Given the description of an element on the screen output the (x, y) to click on. 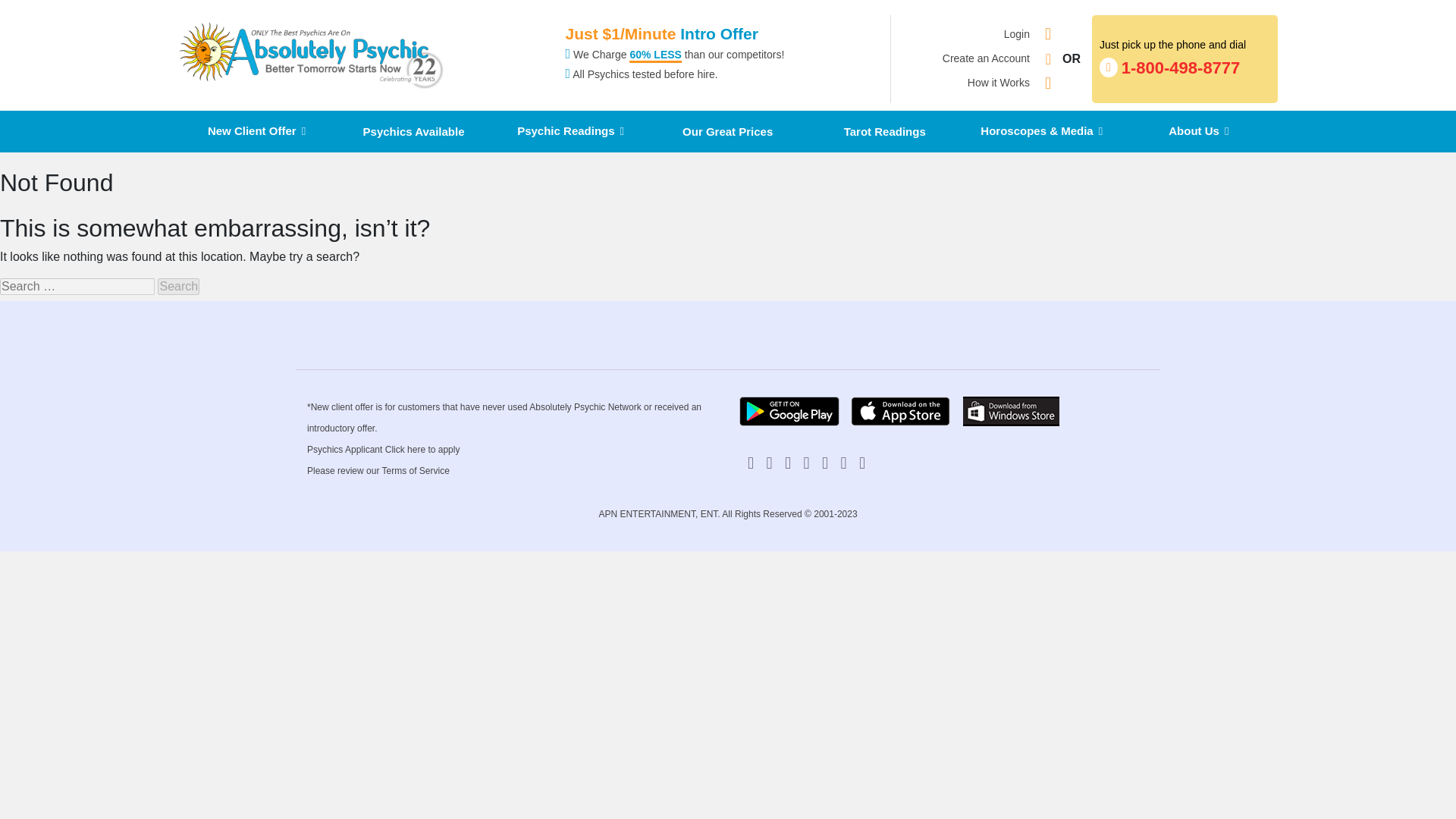
Search (1186, 58)
Create an Account (178, 286)
Login (985, 58)
New Client Offer (1016, 33)
Search (256, 130)
Psychic Readings (178, 286)
How it Works (570, 130)
Psychics Available (998, 83)
